Given the description of an element on the screen output the (x, y) to click on. 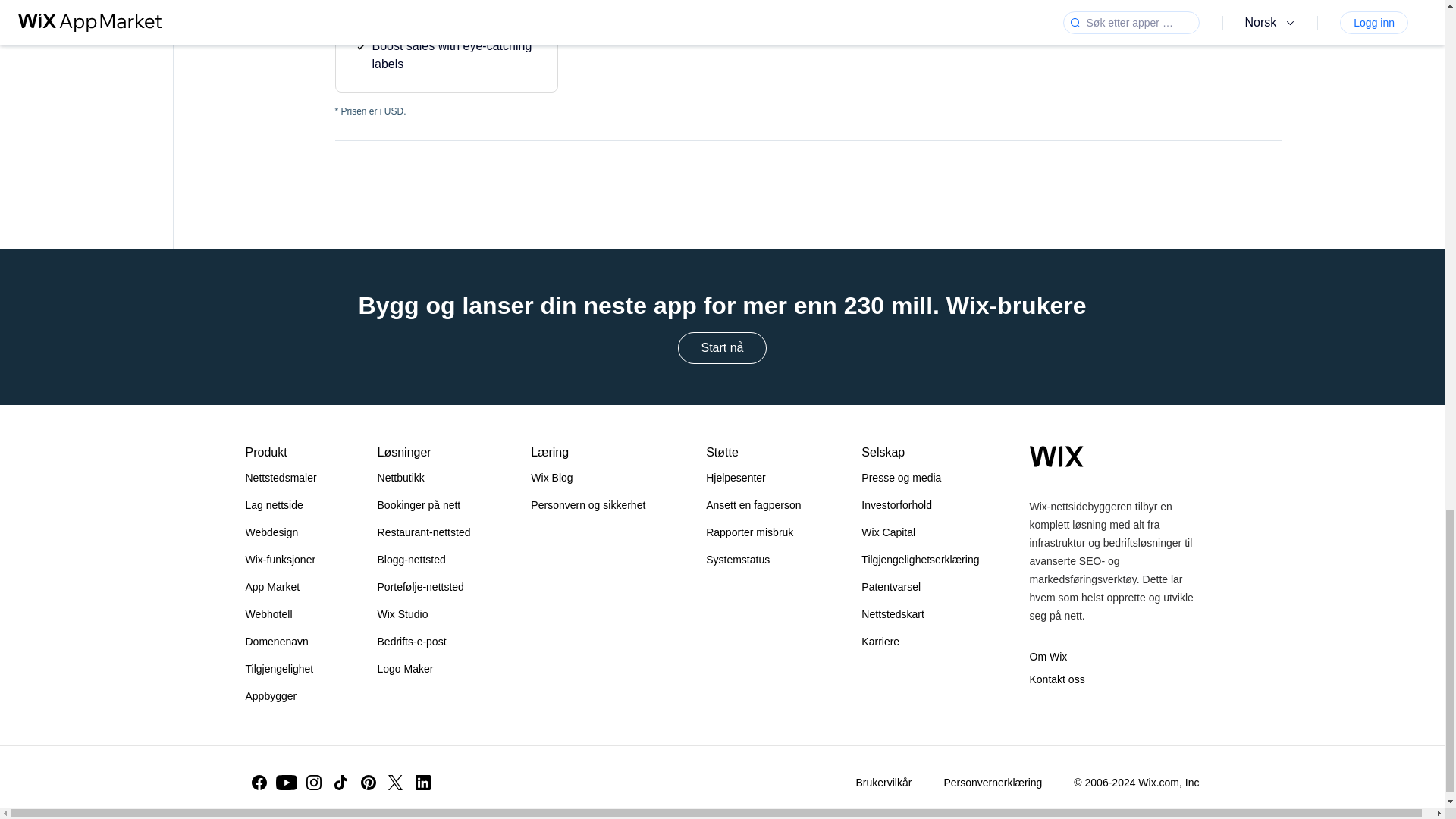
Pinterest (368, 782)
Twitter (395, 782)
Instagram (313, 782)
Facebook (259, 782)
Youtube (286, 782)
Wix.com (1056, 455)
TikTok (341, 782)
Linkedin (422, 782)
